Given the description of an element on the screen output the (x, y) to click on. 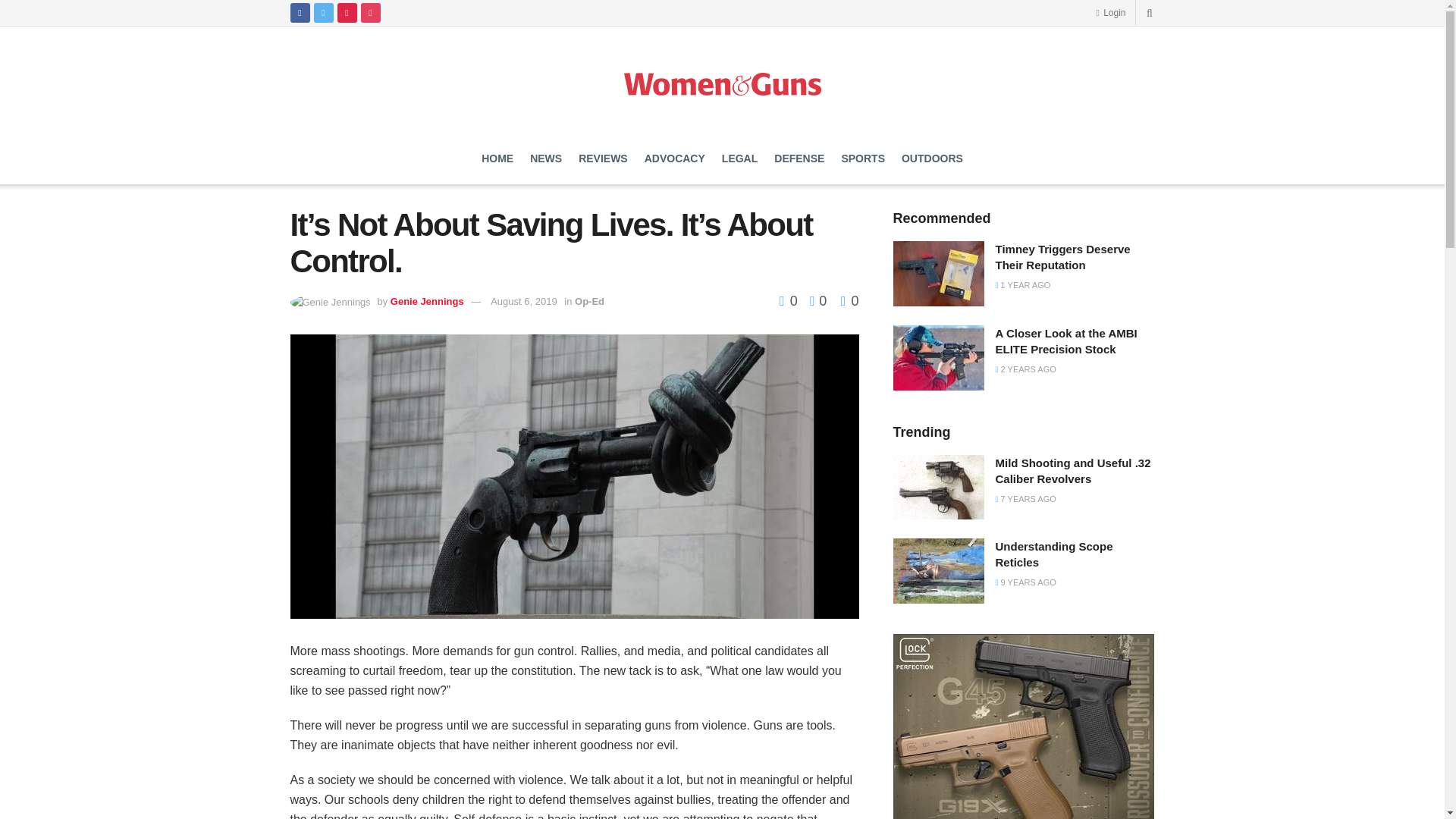
Genie Jennings (427, 301)
SPORTS (863, 158)
DEFENSE (799, 158)
0 (850, 300)
0 (814, 300)
LEGAL (739, 158)
0 (790, 300)
HOME (497, 158)
Login (1110, 12)
Op-Ed (589, 301)
NEWS (545, 158)
ADVOCACY (674, 158)
REVIEWS (602, 158)
OUTDOORS (931, 158)
August 6, 2019 (523, 301)
